Given the description of an element on the screen output the (x, y) to click on. 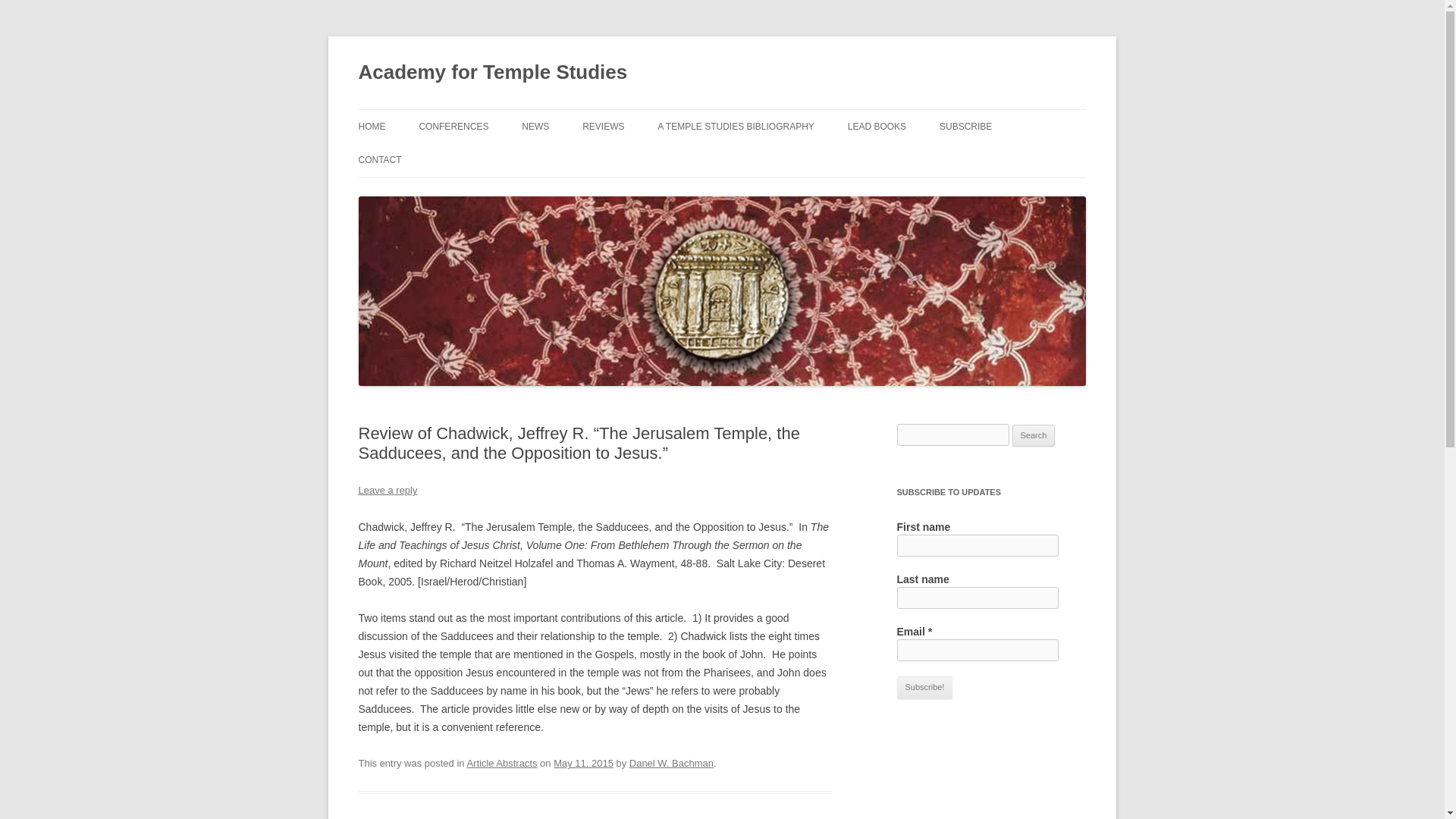
6:07 pm (582, 763)
Last name (977, 598)
REVIEWS (603, 126)
CONFERENCES (453, 126)
First name (977, 545)
Subscribe! (924, 687)
Academy for Temple Studies (492, 72)
BOOK REVIEWS (657, 158)
Email (977, 649)
INTRODUCTION TO THE BIBLIOGRAPHY (733, 167)
2018 CREATION AND ENVIRONMENTAL STEWARDSHIP (494, 167)
A TEMPLE STUDIES BIBLIOGRAPHY (735, 126)
View all posts by Danel W. Bachman (670, 763)
Search (1033, 436)
